Given the description of an element on the screen output the (x, y) to click on. 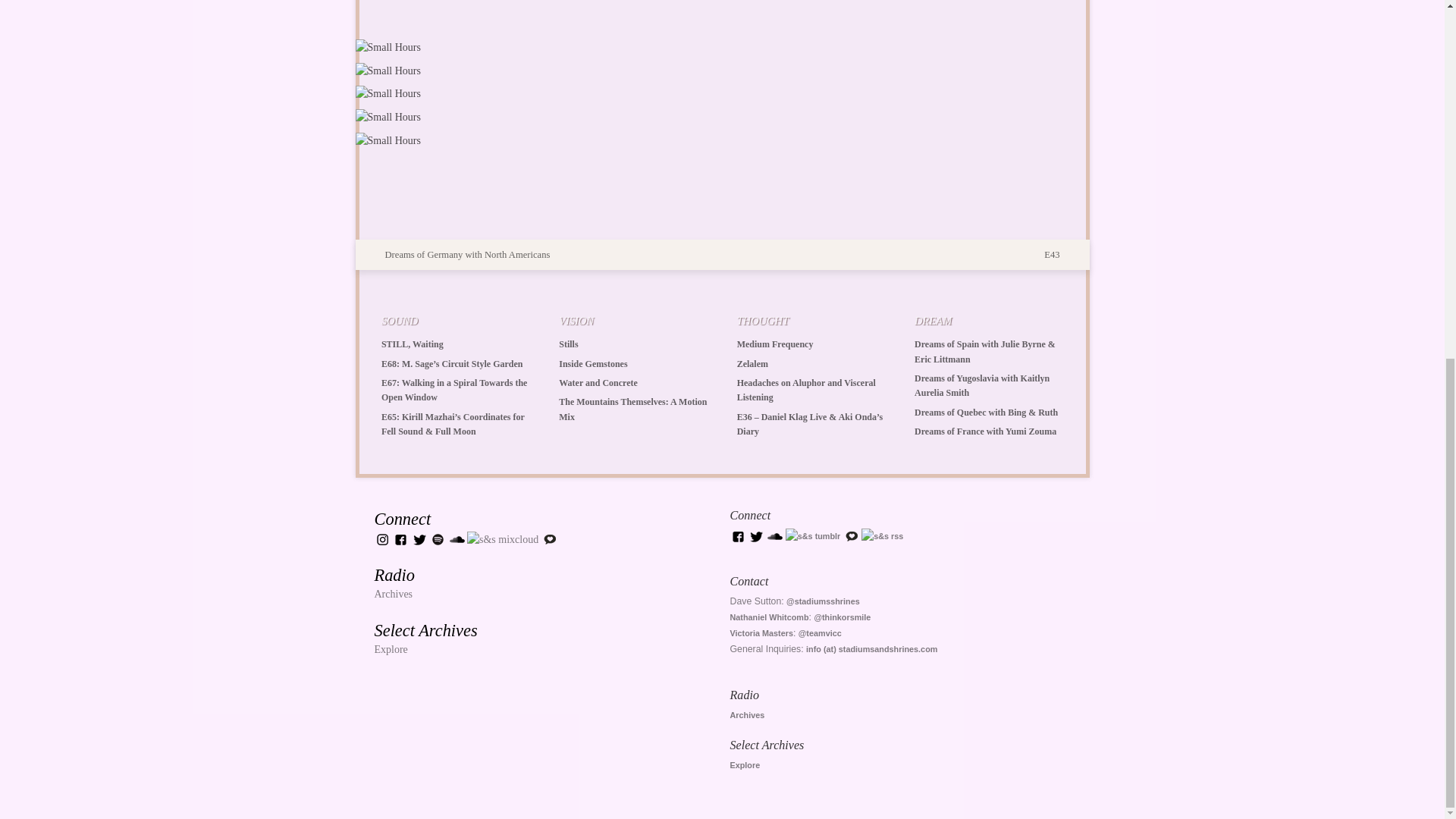
Permanent link to Medium Frequency (774, 344)
Zelalem (752, 363)
Permanent link to Inside Gemstones (593, 363)
Water and Concrete (598, 382)
The Mountains Themselves: A Motion Mix (632, 408)
Medium Frequency (774, 344)
Inside Gemstones (593, 363)
Dreams of Germany with North Americans (458, 254)
Headaches on Aluphor and Visceral Listening (806, 389)
